Given the description of an element on the screen output the (x, y) to click on. 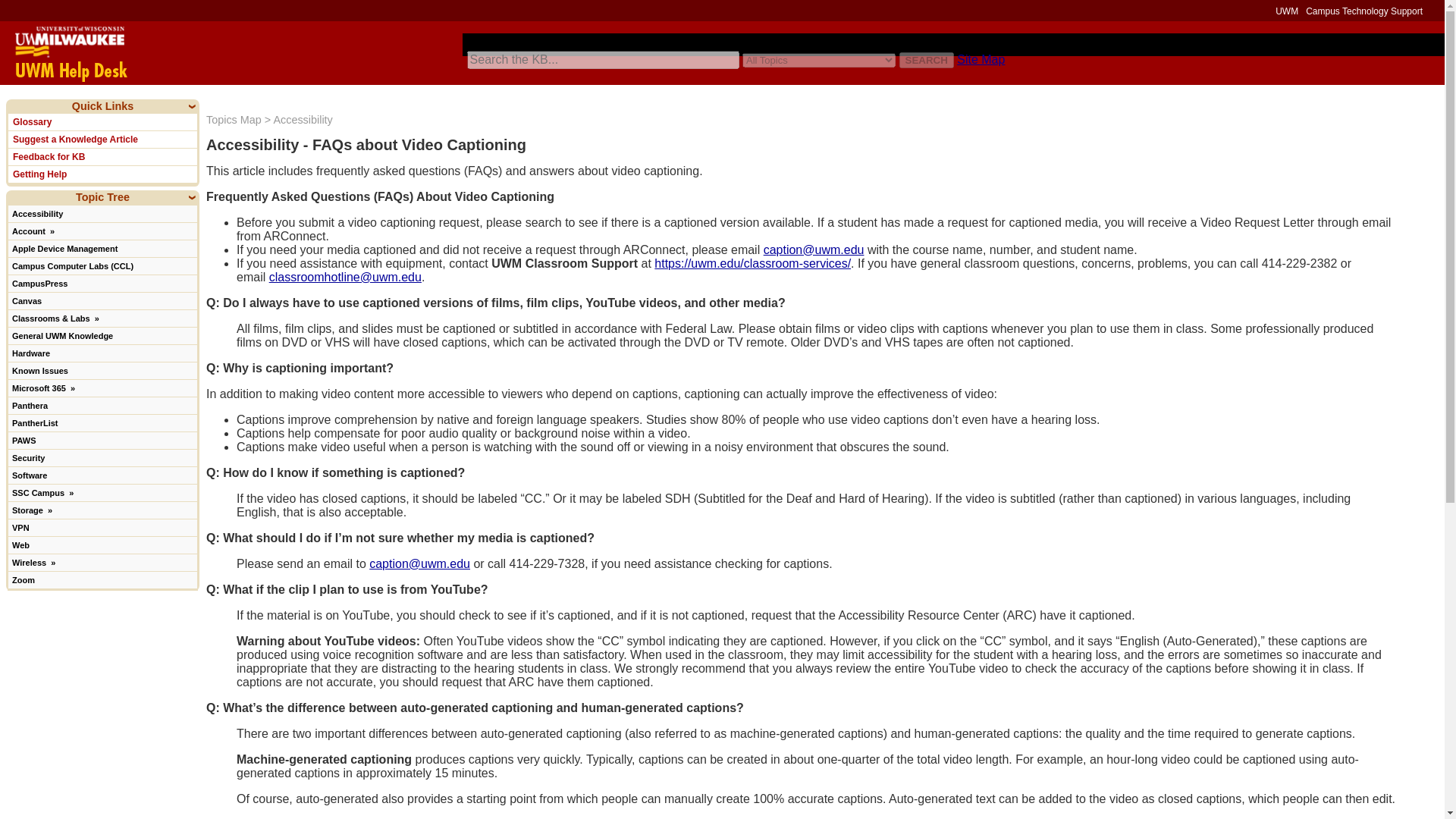
Hardware (102, 352)
Canvas (102, 300)
Glossary (102, 121)
Feedback for KB (102, 156)
SEARCH (926, 59)
CampusPress (102, 282)
UWM (1286, 10)
SEARCH (926, 59)
Site Map (980, 59)
Known Issues (102, 370)
